Given the description of an element on the screen output the (x, y) to click on. 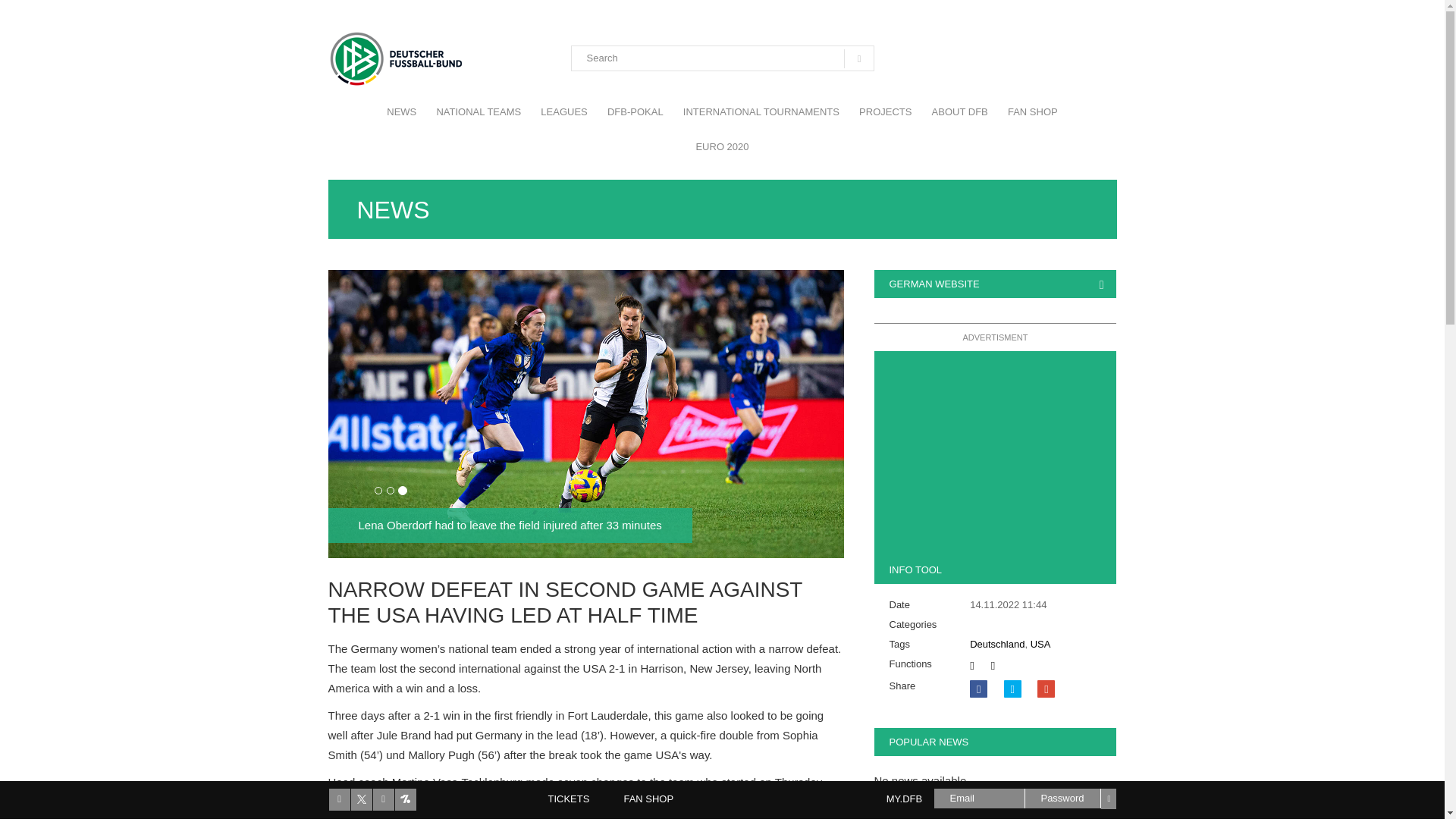
Facebook (978, 688)
FAN SHOP (1031, 112)
LEAGUES (563, 112)
EURO 2020 (722, 146)
DFB-POKAL (634, 112)
PROJECTS (885, 112)
USA (1040, 644)
Twitter (1013, 688)
NEWS (401, 112)
Google Plus (1045, 688)
GERMAN WEBSITE (933, 283)
ABOUT DFB (959, 112)
NATIONAL TEAMS (478, 112)
Deutschland (997, 644)
